Given the description of an element on the screen output the (x, y) to click on. 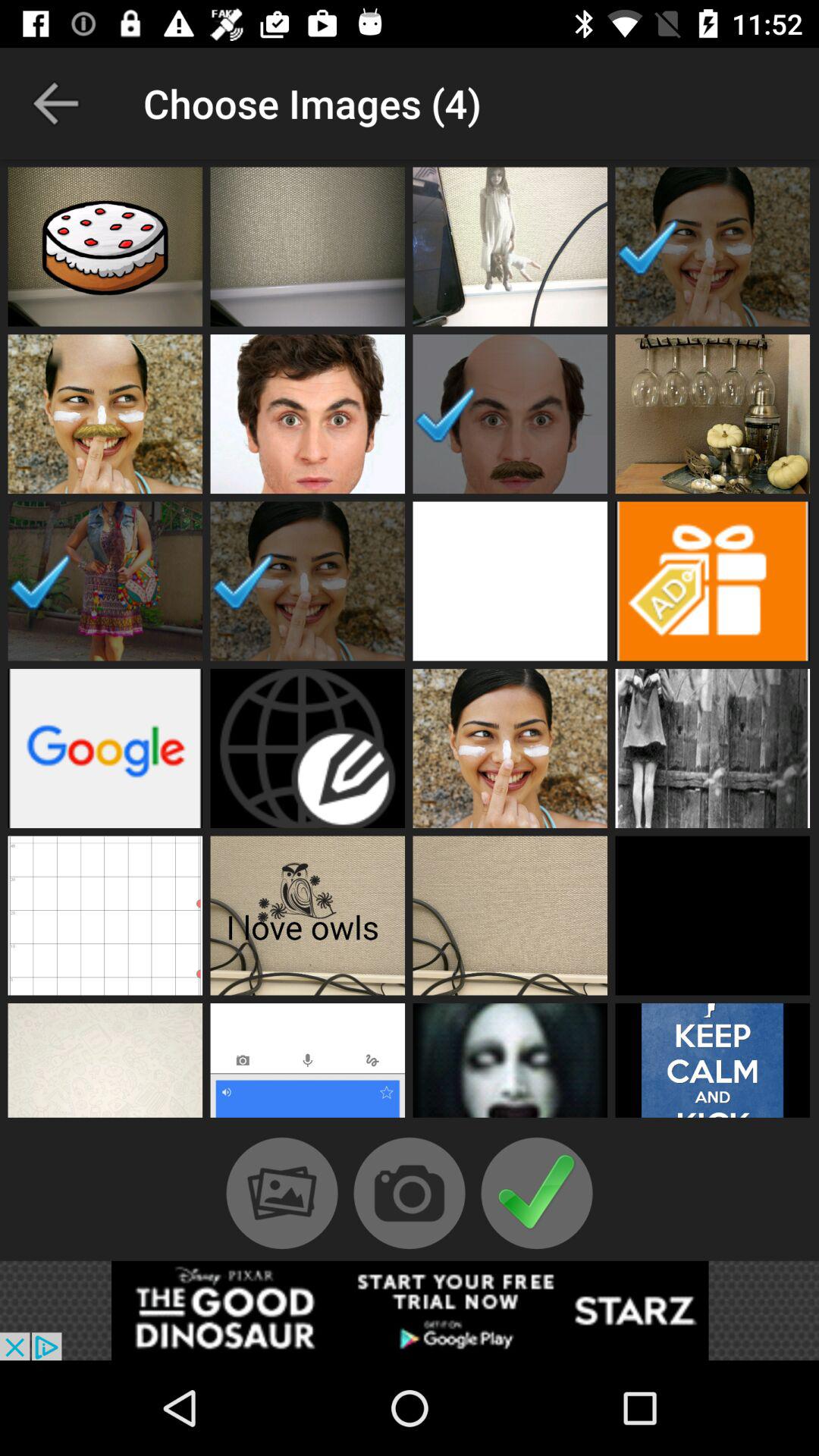
put google in video (104, 748)
